Given the description of an element on the screen output the (x, y) to click on. 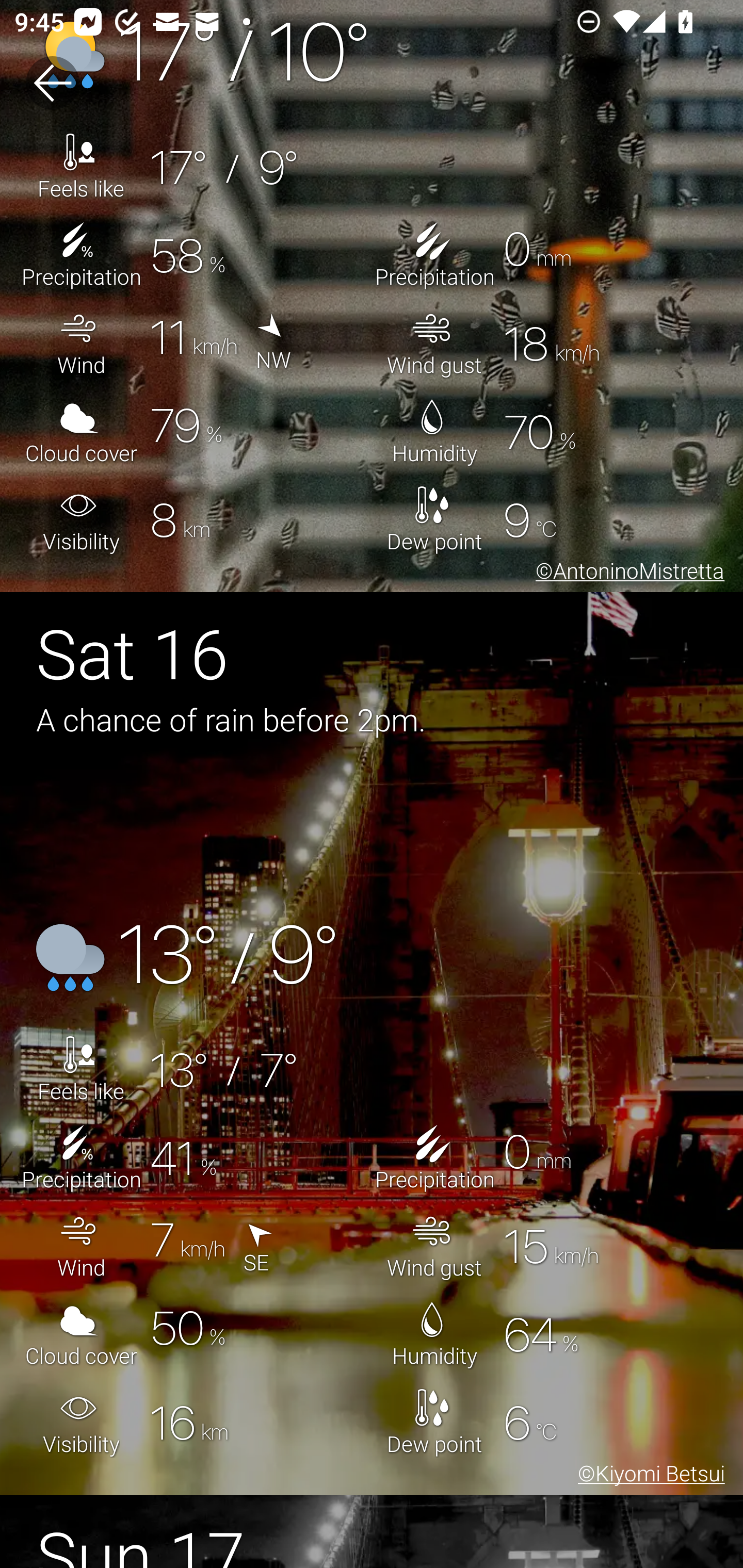
©AntoninoMistretta (626, 573)
©Kiyomi Betsui (647, 1476)
